Given the description of an element on the screen output the (x, y) to click on. 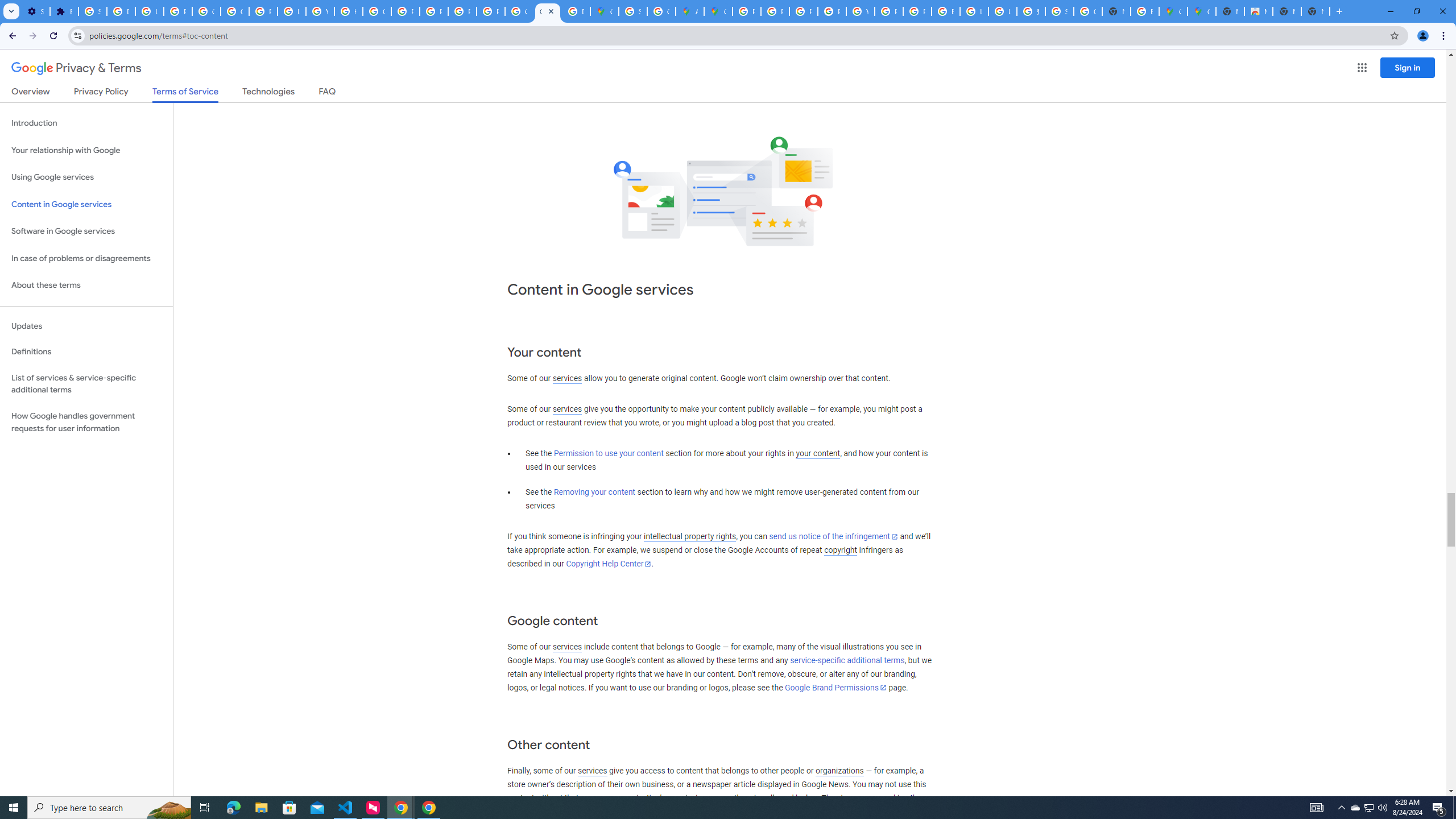
YouTube (860, 11)
How Google handles government requests for user information (86, 422)
Sign in - Google Accounts (1058, 11)
Create your Google Account (661, 11)
FAQ (327, 93)
Google Maps (604, 11)
New Tab (1230, 11)
Privacy Help Center - Policies Help (803, 11)
Removing your content (593, 492)
